Given the description of an element on the screen output the (x, y) to click on. 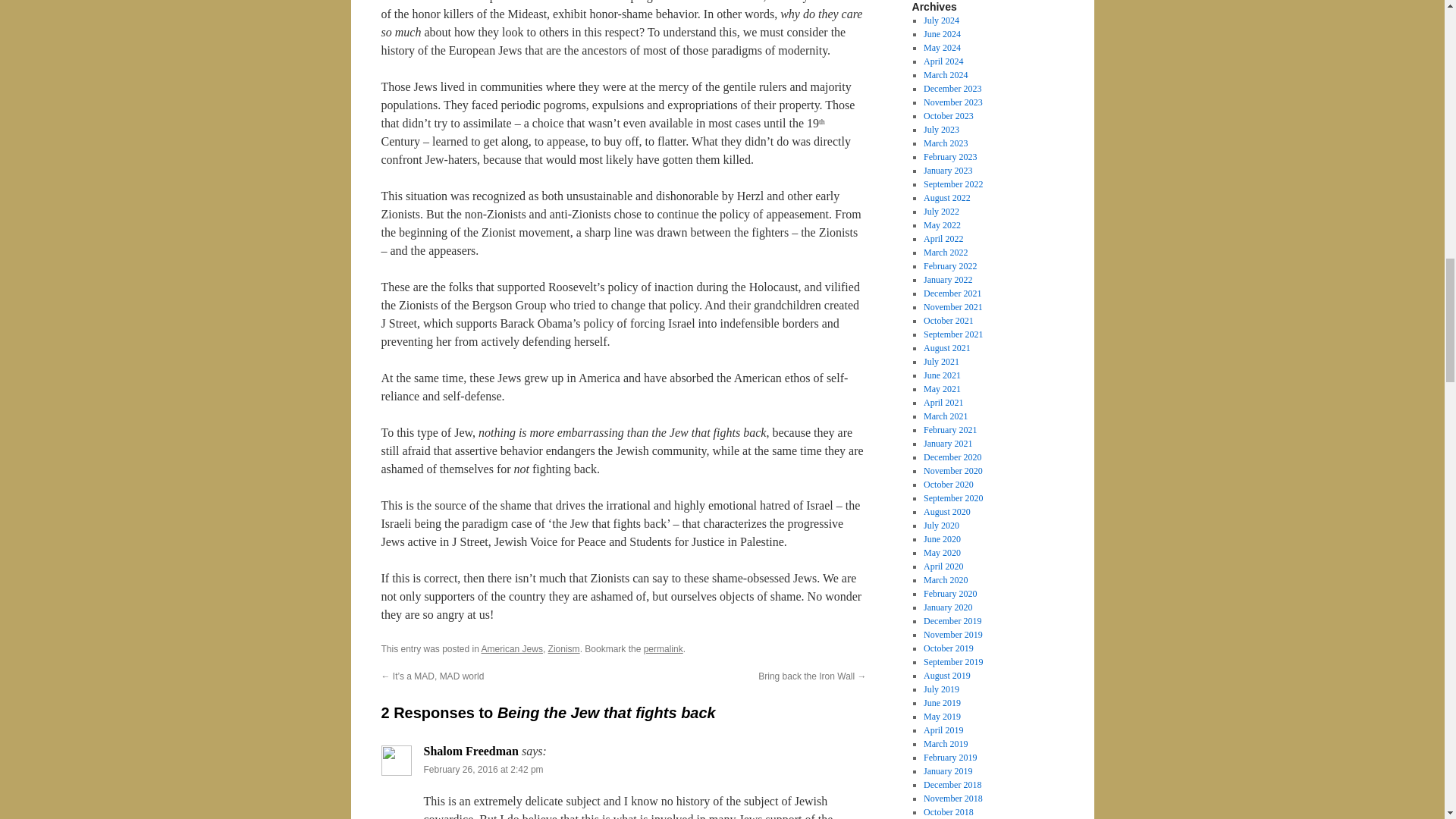
Permalink to Being the Jew that fights back (662, 648)
permalink (662, 648)
American Jews (512, 648)
Zionism (563, 648)
February 26, 2016 at 2:42 pm (483, 769)
